Given the description of an element on the screen output the (x, y) to click on. 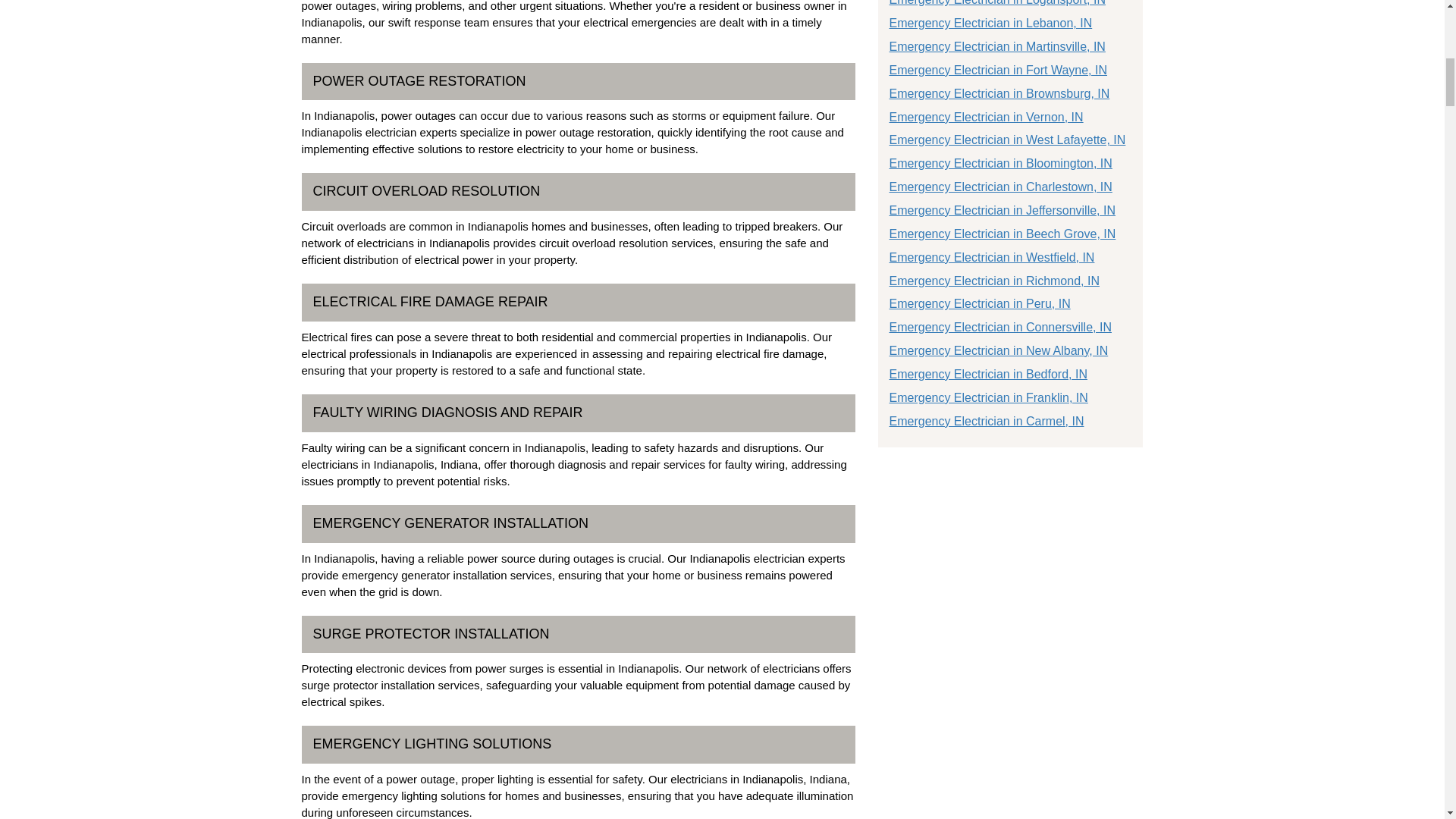
24 Hour Electrician in Richmond, IN (993, 280)
24 Hour Electrician in Charlestown, IN (1000, 186)
Emergency Electrician in Carmel, IN (985, 420)
Emergency Electrician in Westfield, IN (991, 256)
Emergency Electrician in Lebanon, IN (990, 22)
24 Hour Electrician in Fort Wayne, IN (997, 69)
Emergency Electrician in Peru, IN (979, 303)
24 Hour Electrician in Lebanon, IN (990, 22)
24 Hour Electrician in Bloomington, IN (1000, 163)
Emergency Electrician in Connersville, IN (999, 327)
24 Hour Electrician in Vernon, IN (985, 116)
24 Hour Electrician in Martinsville, IN (996, 46)
Emergency Electrician in Charlestown, IN (1000, 186)
24 Hour Electrician in Peru, IN (979, 303)
24 Hour Electrician in West Lafayette, IN (1006, 139)
